Given the description of an element on the screen output the (x, y) to click on. 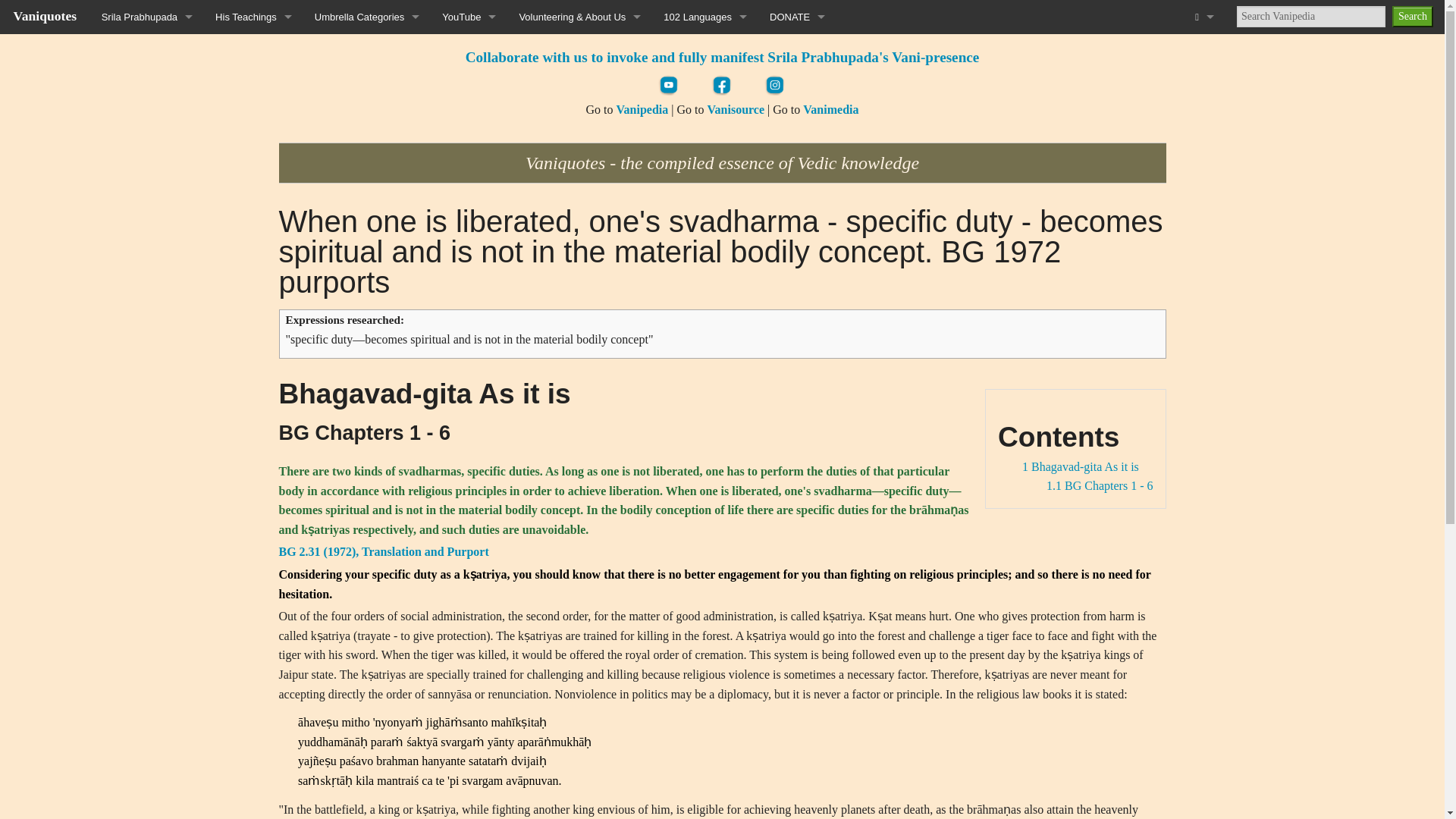
Search (1411, 16)
Vaniquotes (44, 15)
vanisource:Main Page (735, 109)
vanipedia:Main Page (641, 109)
vanimedia:Main Page (831, 109)
Srila Prabhupada (146, 17)
